Given the description of an element on the screen output the (x, y) to click on. 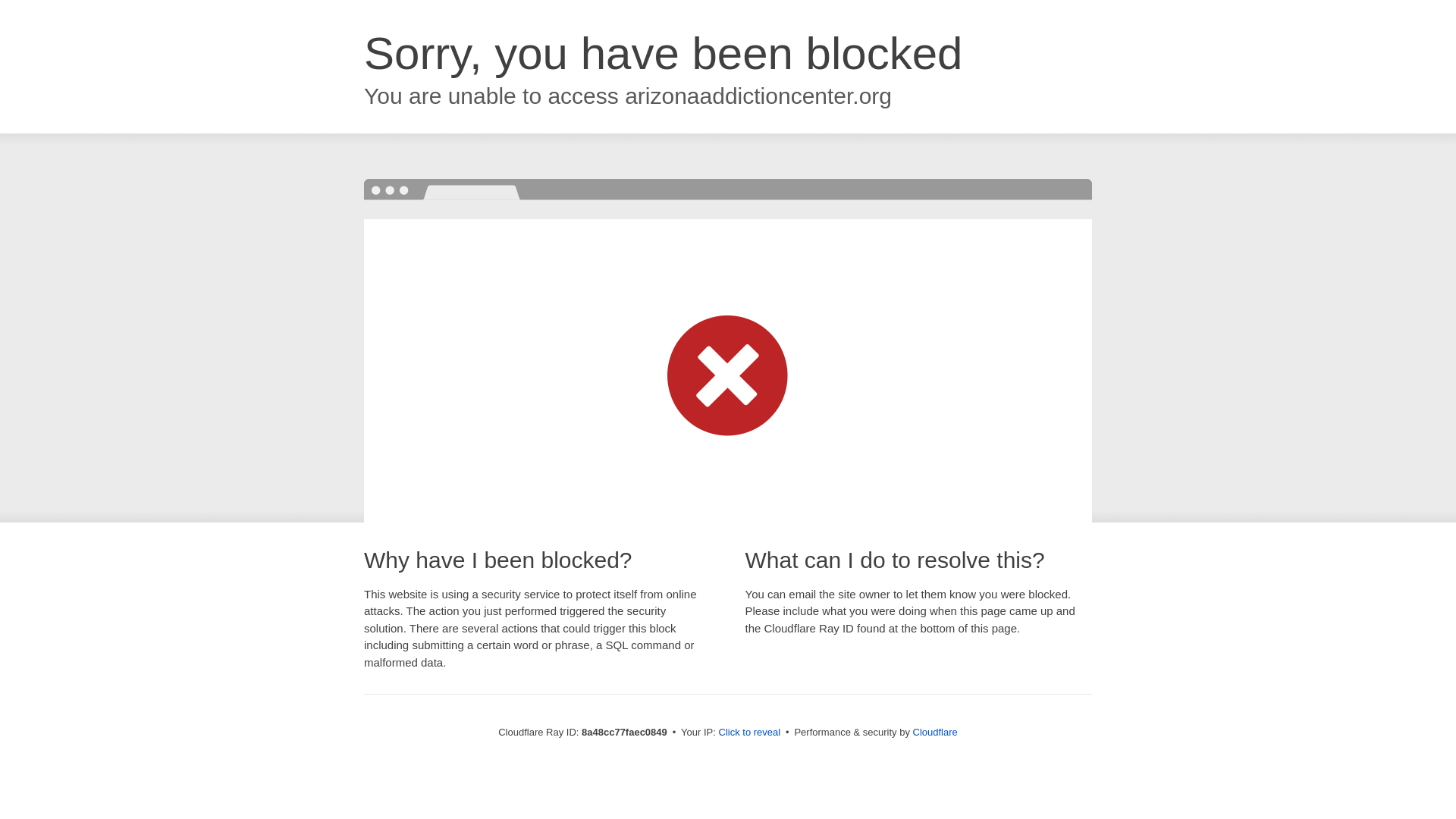
Cloudflare (935, 731)
Click to reveal (749, 732)
